Given the description of an element on the screen output the (x, y) to click on. 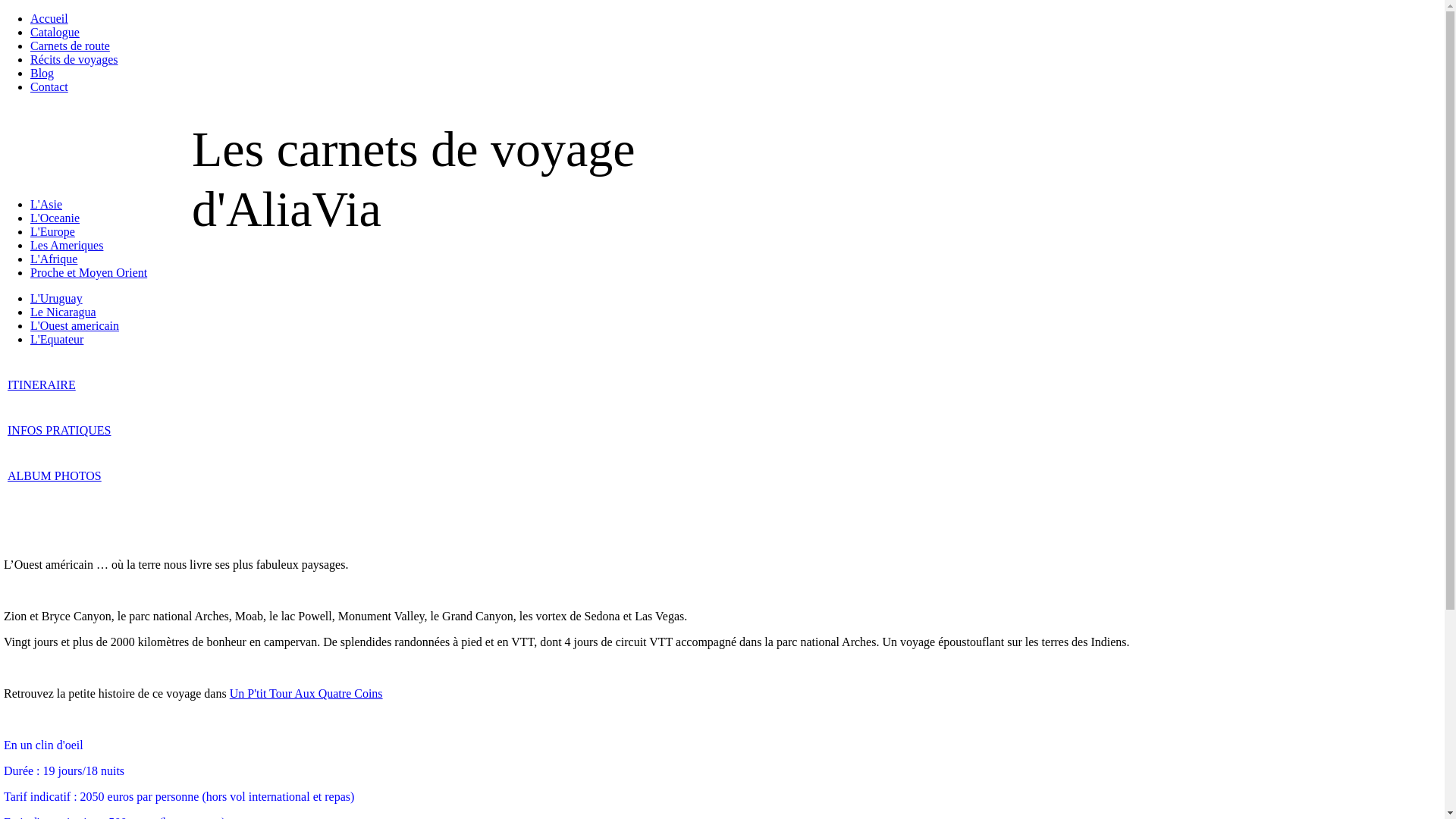
L'Equateur Element type: text (56, 338)
L'Oceanie Element type: text (54, 217)
L'Europe Element type: text (52, 231)
Catalogue Element type: text (54, 31)
Accueil Element type: text (49, 18)
INFOS PRATIQUES Element type: text (58, 429)
Proche et Moyen Orient Element type: text (88, 272)
Un P'tit Tour Aux Quatre Coins Element type: text (305, 693)
Le Nicaragua Element type: text (63, 311)
Contact Element type: text (49, 86)
Les Ameriques Element type: text (66, 244)
ITINERAIRE Element type: text (41, 384)
L'Asie Element type: text (46, 203)
Blog Element type: text (41, 72)
L'Ouest americain Element type: text (74, 325)
L'Uruguay Element type: text (56, 297)
ALBUM PHOTOS Element type: text (54, 475)
L'Afrique Element type: text (53, 258)
Carnets de route Element type: text (69, 45)
